Given the description of an element on the screen output the (x, y) to click on. 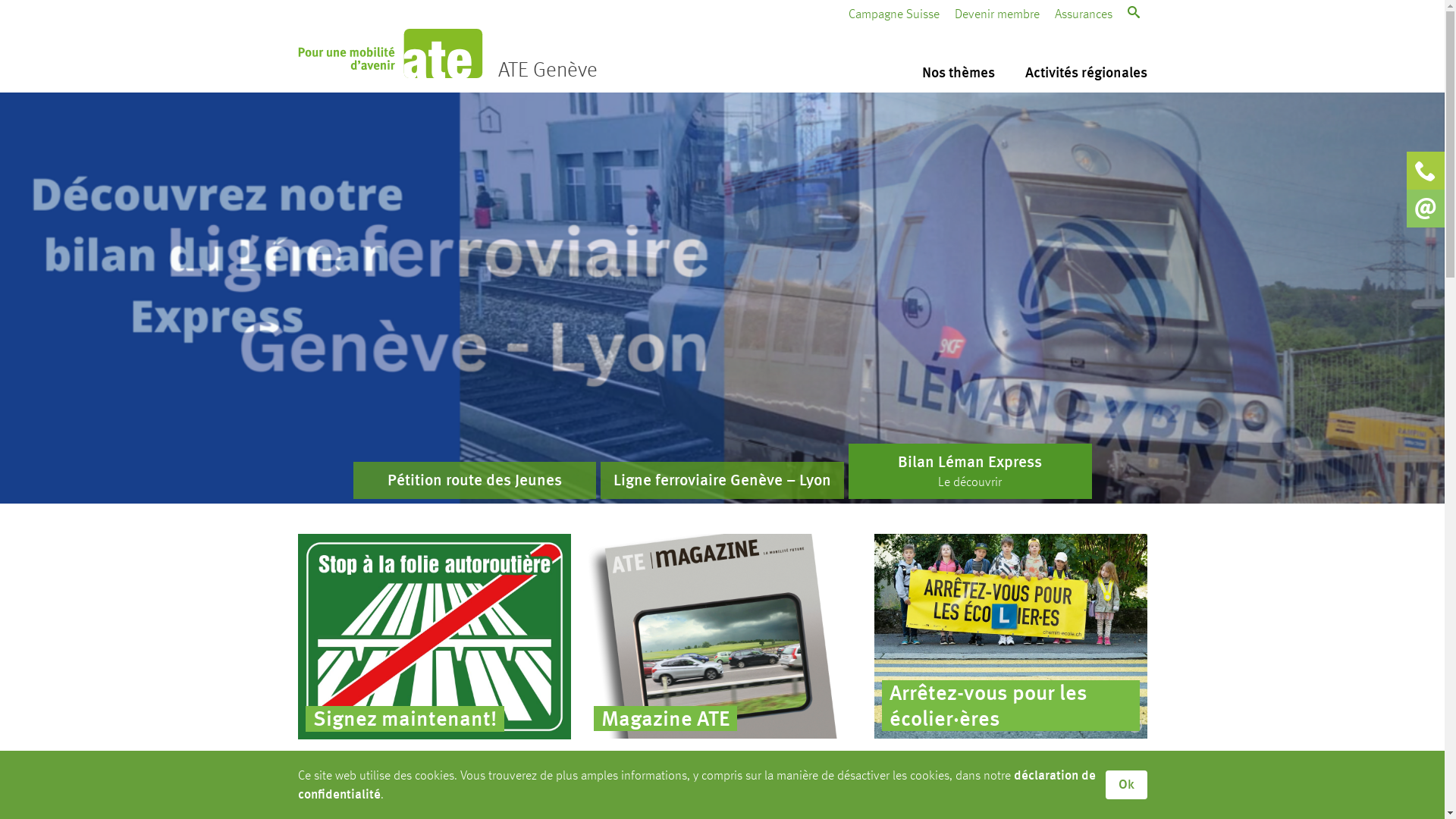
ATE Association transports et environnement Element type: hover (389, 53)
Identification Element type: text (963, 244)
Recherche Element type: text (1082, 68)
Ok Element type: text (1126, 784)
Devenir membre Element type: text (995, 13)
Magazine ATE Element type: text (721, 636)
Assurances Element type: text (1082, 13)
Agir maintenant! Element type: hover (433, 635)
Campagne Suisse Element type: text (892, 13)
Signez maintenant! Element type: text (433, 636)
